Given the description of an element on the screen output the (x, y) to click on. 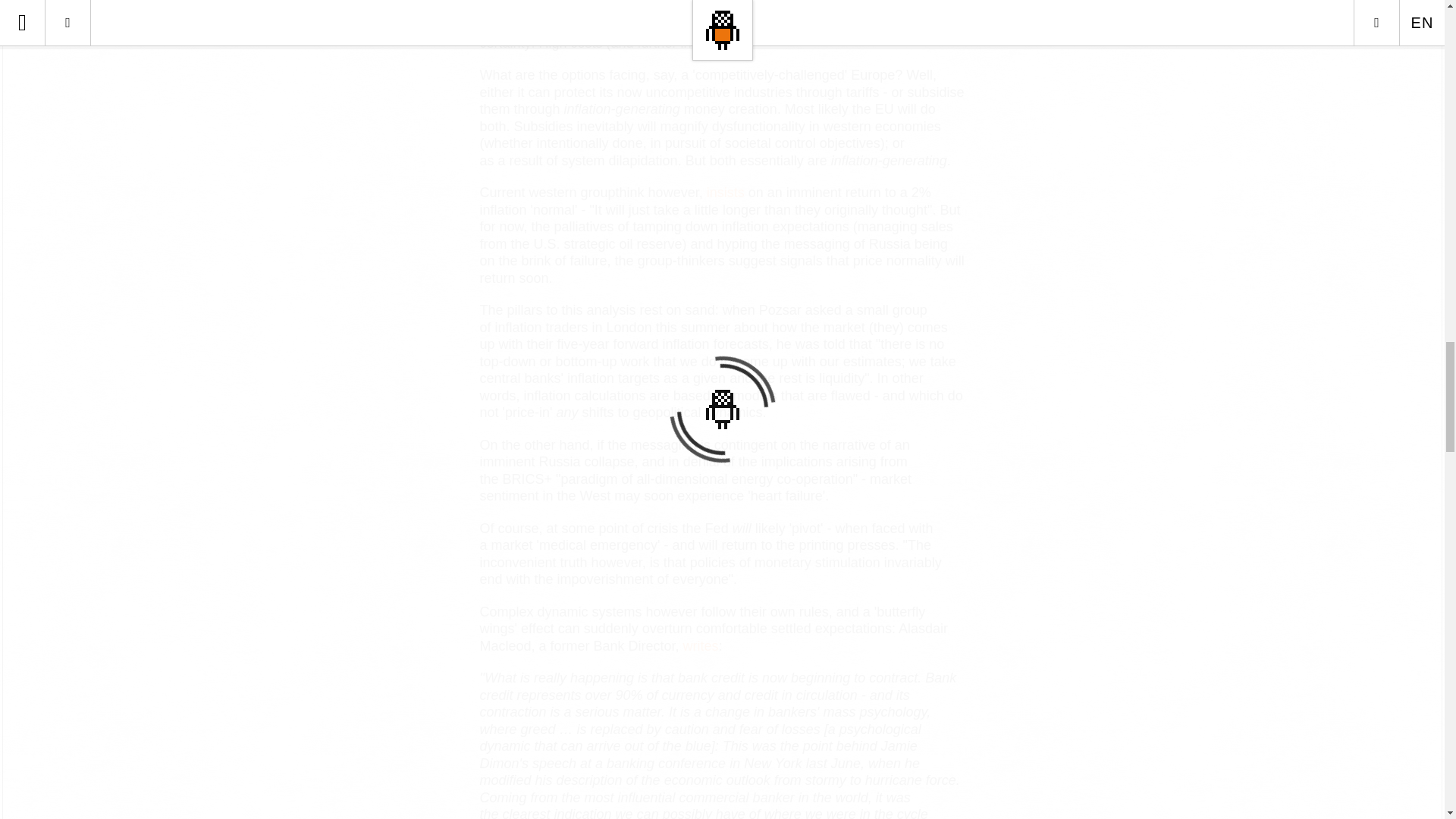
insists (725, 192)
